Given the description of an element on the screen output the (x, y) to click on. 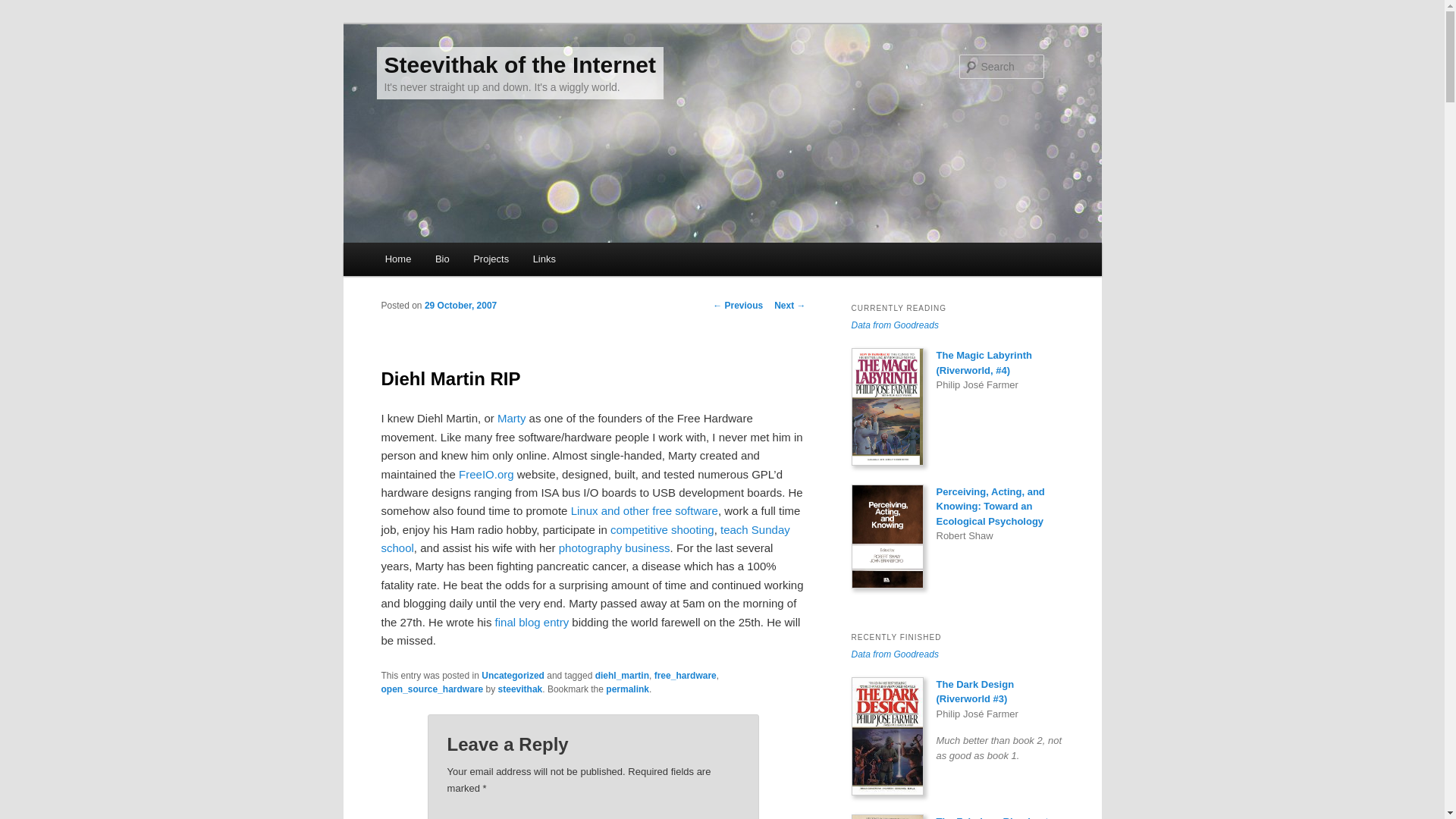
Projects (490, 258)
Search (24, 8)
permalink (627, 688)
Skip to secondary content (459, 261)
Skip to primary content (452, 261)
final blog entry (532, 621)
teach Sunday school (584, 538)
Uncategorized (512, 675)
11:24 pm (460, 305)
competitive shooting (662, 529)
